Given the description of an element on the screen output the (x, y) to click on. 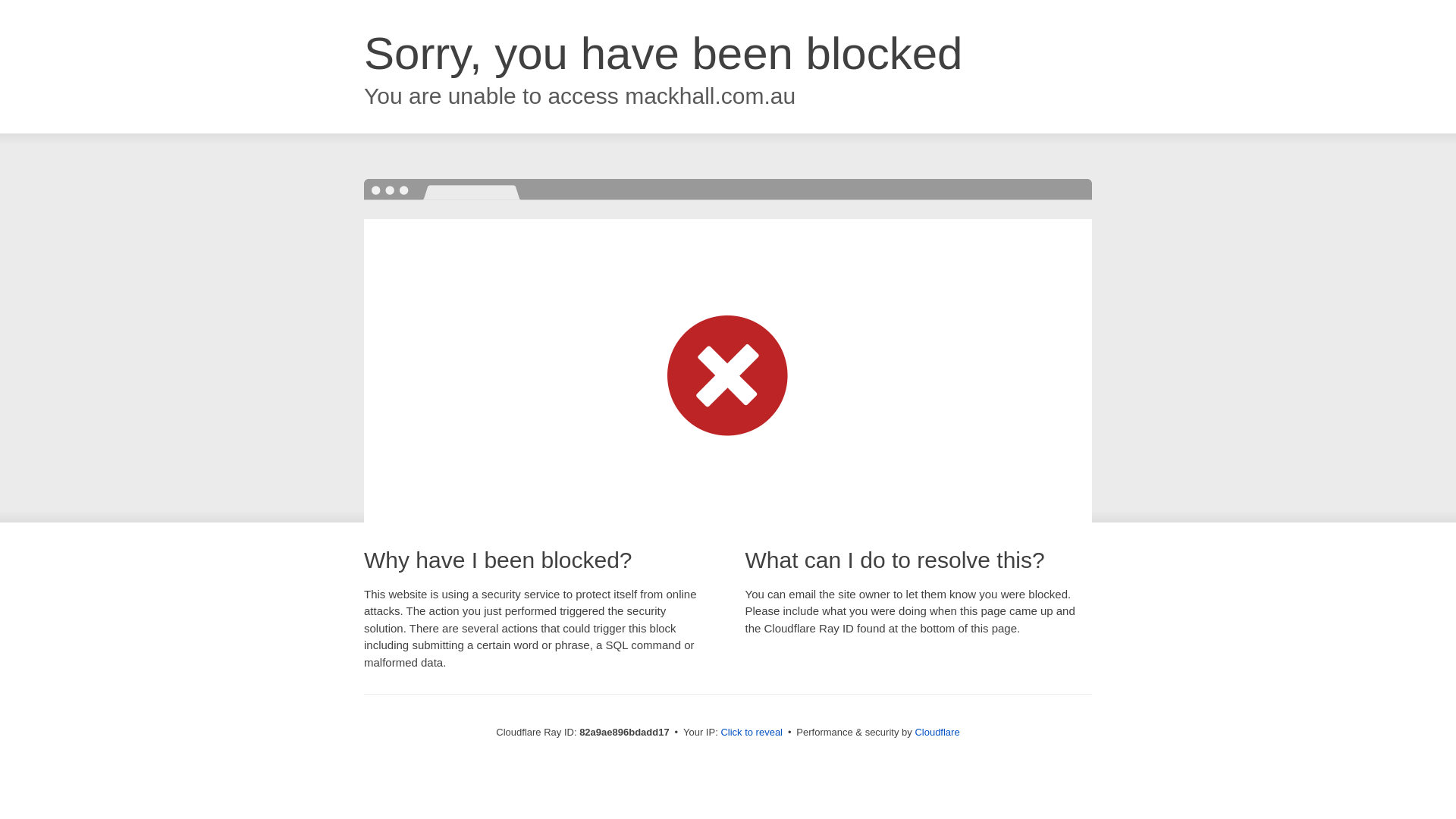
Click to reveal Element type: text (751, 732)
Cloudflare Element type: text (936, 731)
